Given the description of an element on the screen output the (x, y) to click on. 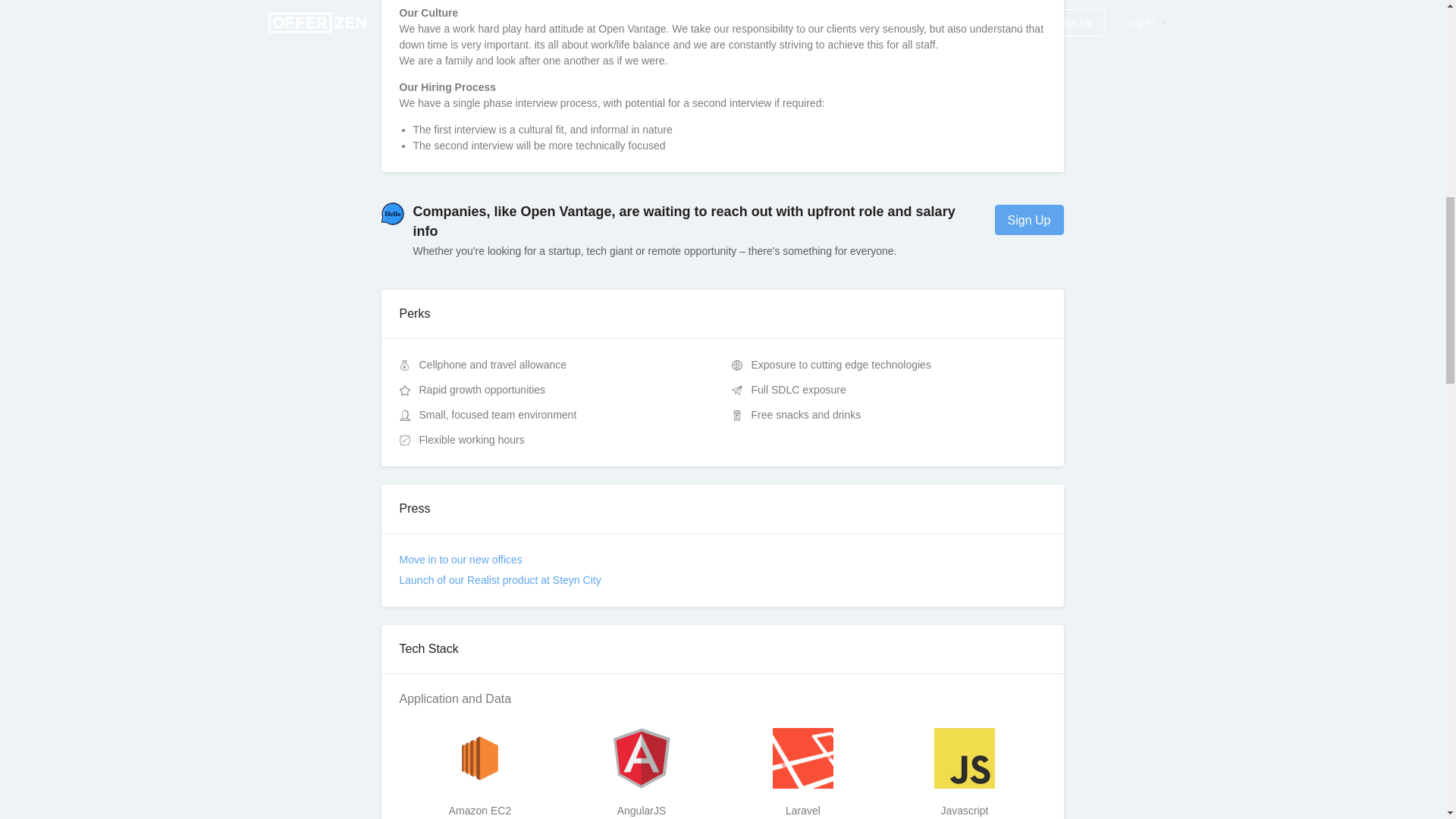
Move in to our new offices (459, 560)
Launch of our Realist product at Steyn City (498, 580)
Sign Up (1029, 219)
